Given the description of an element on the screen output the (x, y) to click on. 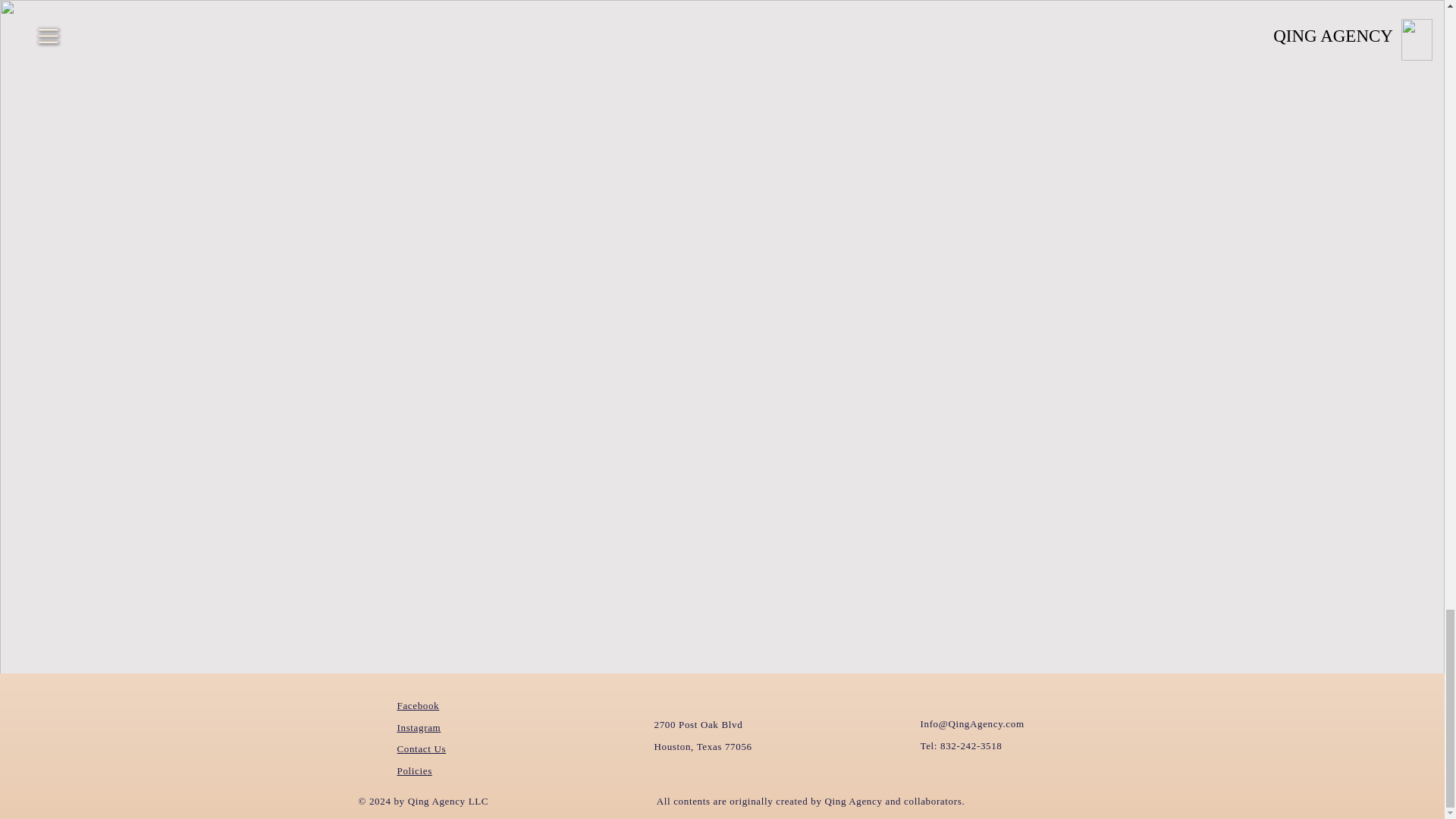
Instagram (419, 727)
Contact Us (421, 748)
Policies (414, 770)
Facebook (418, 705)
